Given the description of an element on the screen output the (x, y) to click on. 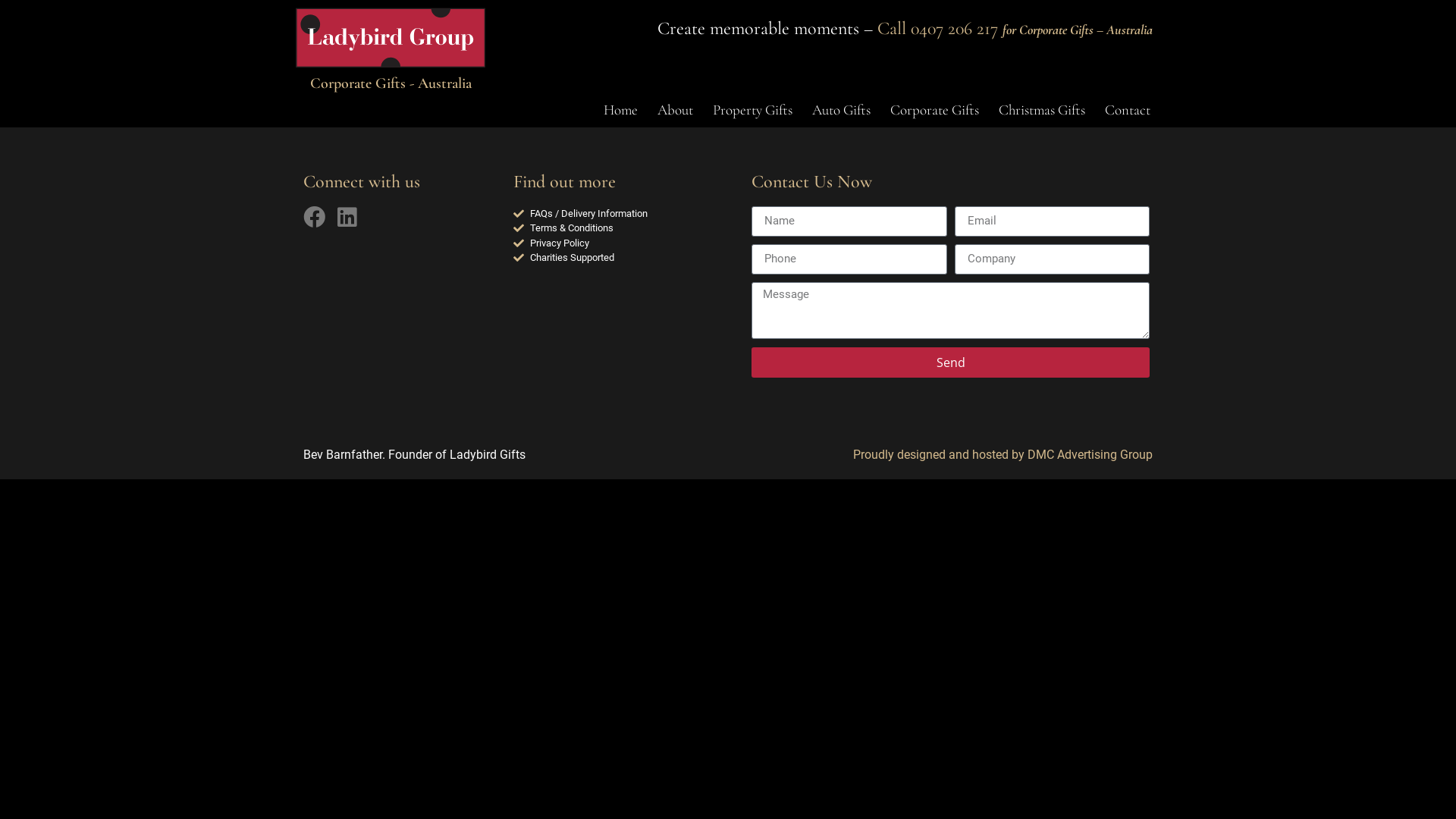
Christmas Gifts Element type: text (1041, 109)
Send Element type: text (950, 362)
Contact Element type: text (1127, 109)
Home Element type: text (620, 109)
Australia Element type: text (1129, 29)
Call 0407 206 217 Element type: text (937, 28)
Auto Gifts Element type: text (841, 109)
Proudly designed and hosted by DMC Advertising Group Element type: text (1002, 454)
Charities Supported Element type: text (624, 257)
FAQs / Delivery Information Element type: text (624, 213)
About Element type: text (674, 109)
Corporate Gifts Element type: text (934, 109)
Privacy Policy Element type: text (624, 243)
Terms & Conditions Element type: text (624, 227)
Property Gifts Element type: text (752, 109)
